Given the description of an element on the screen output the (x, y) to click on. 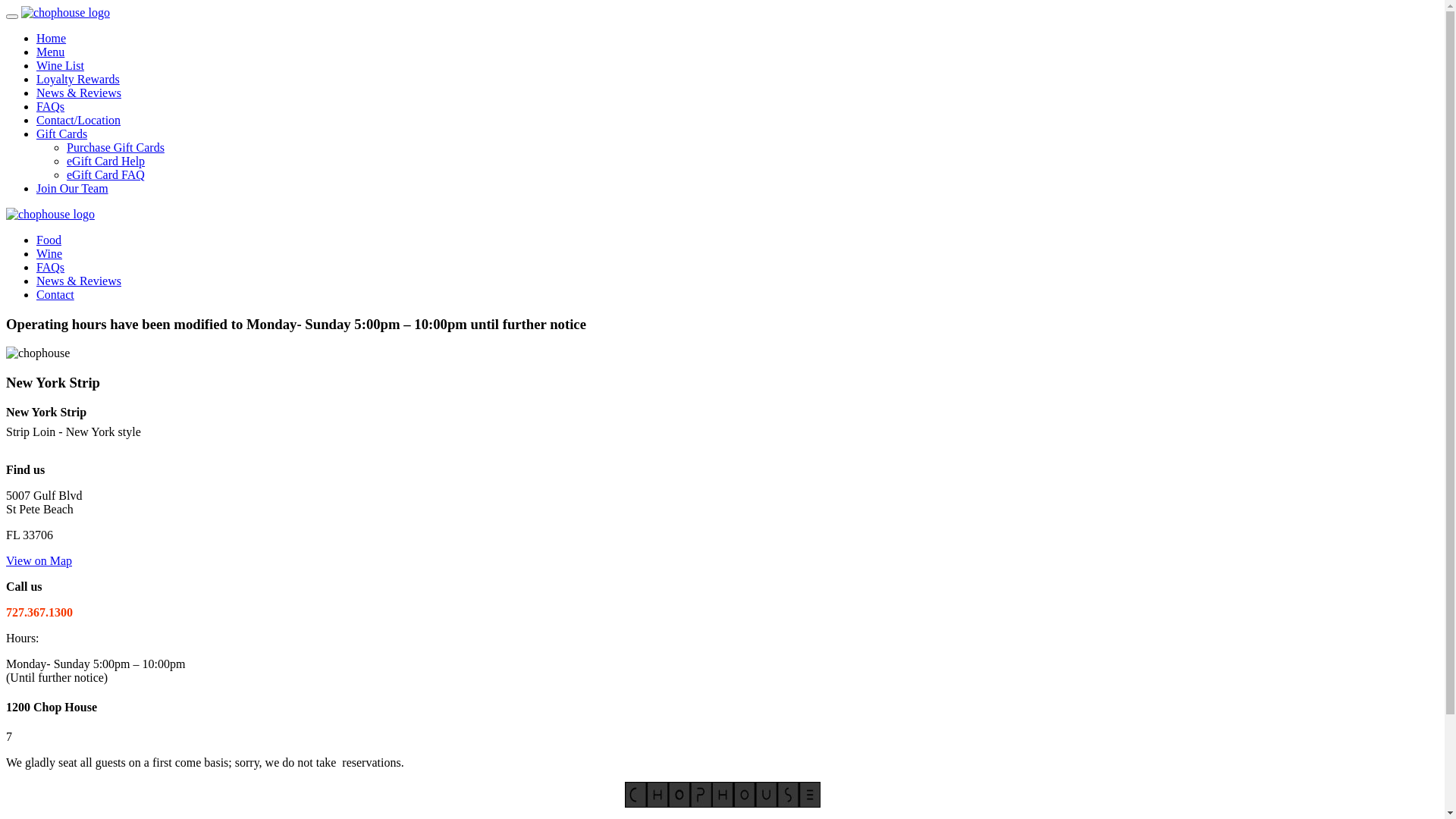
FAQs Element type: text (50, 266)
Gift Cards Element type: text (61, 133)
Join Our Team Element type: text (72, 188)
Purchase Gift Cards Element type: text (115, 147)
Contact Element type: text (55, 294)
Loyalty Rewards Element type: text (77, 78)
eGift Card Help Element type: text (105, 160)
Food Element type: text (48, 239)
View on Map Element type: text (39, 560)
Home Element type: text (50, 37)
Wine Element type: text (49, 253)
eGift Card FAQ Element type: text (105, 174)
Contact/Location Element type: text (78, 119)
Wine List Element type: text (60, 65)
News & Reviews Element type: text (78, 92)
Menu Element type: text (50, 51)
FAQs Element type: text (50, 106)
News & Reviews Element type: text (78, 280)
